Given the description of an element on the screen output the (x, y) to click on. 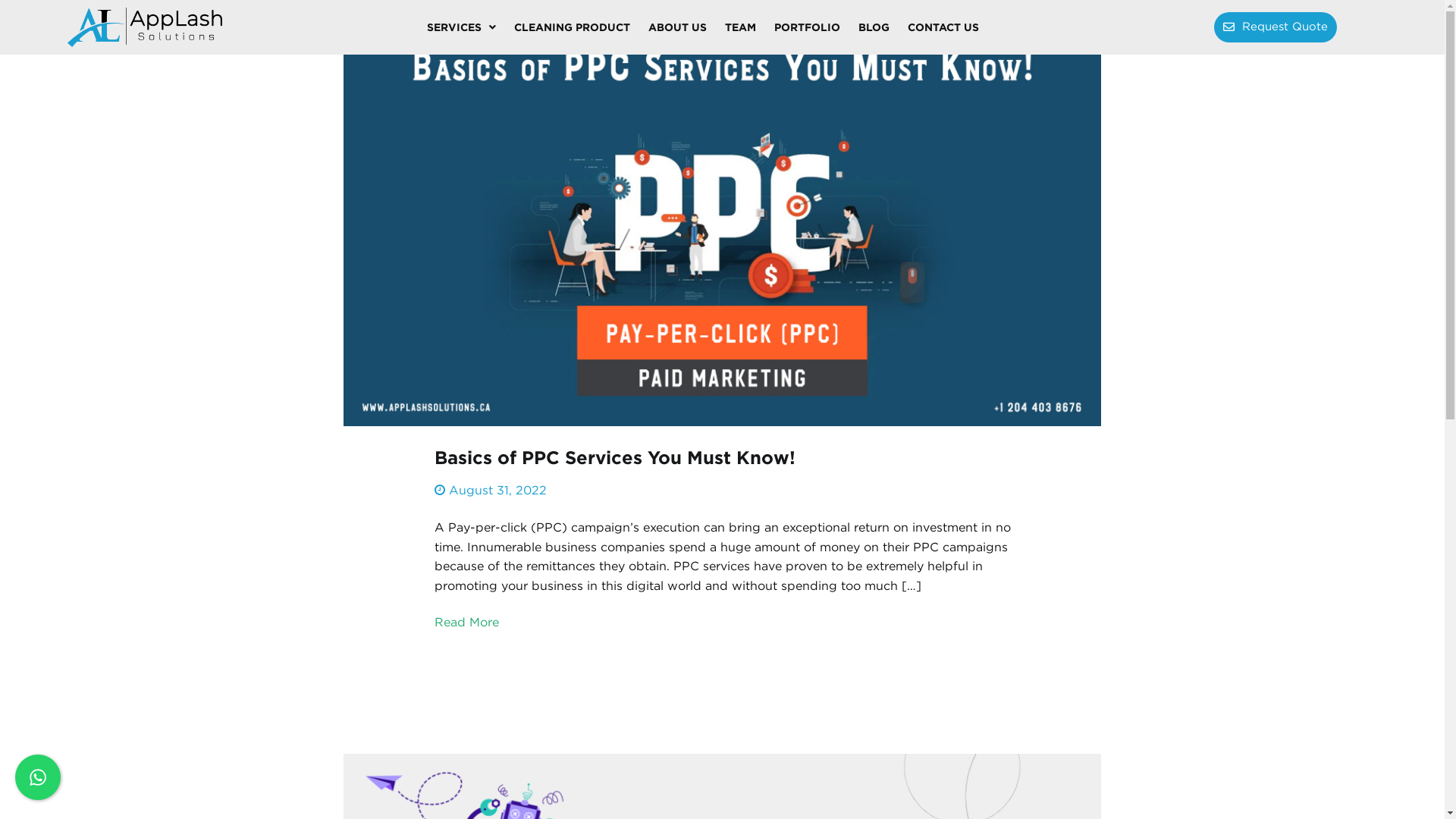
Request Quote Element type: text (1275, 27)
August 31, 2022 Element type: text (497, 490)
Basics of PPC Services You Must Know! Element type: text (613, 457)
Read More Element type: text (465, 622)
